Given the description of an element on the screen output the (x, y) to click on. 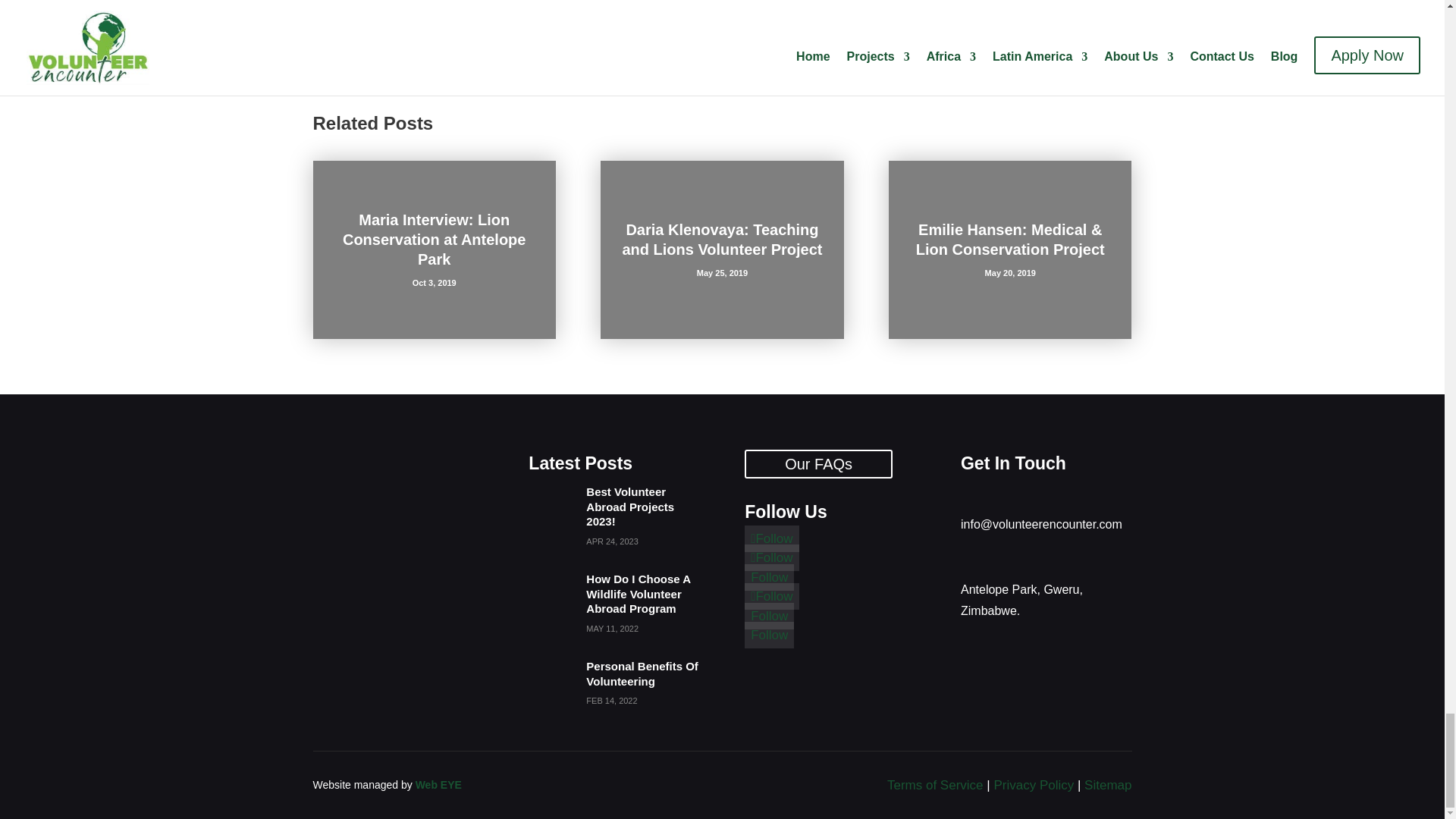
Follow on LinkedIn (768, 577)
Follow on google-plus (770, 596)
Follow on Instagram (770, 557)
Follow on Facebook (770, 538)
